Given the description of an element on the screen output the (x, y) to click on. 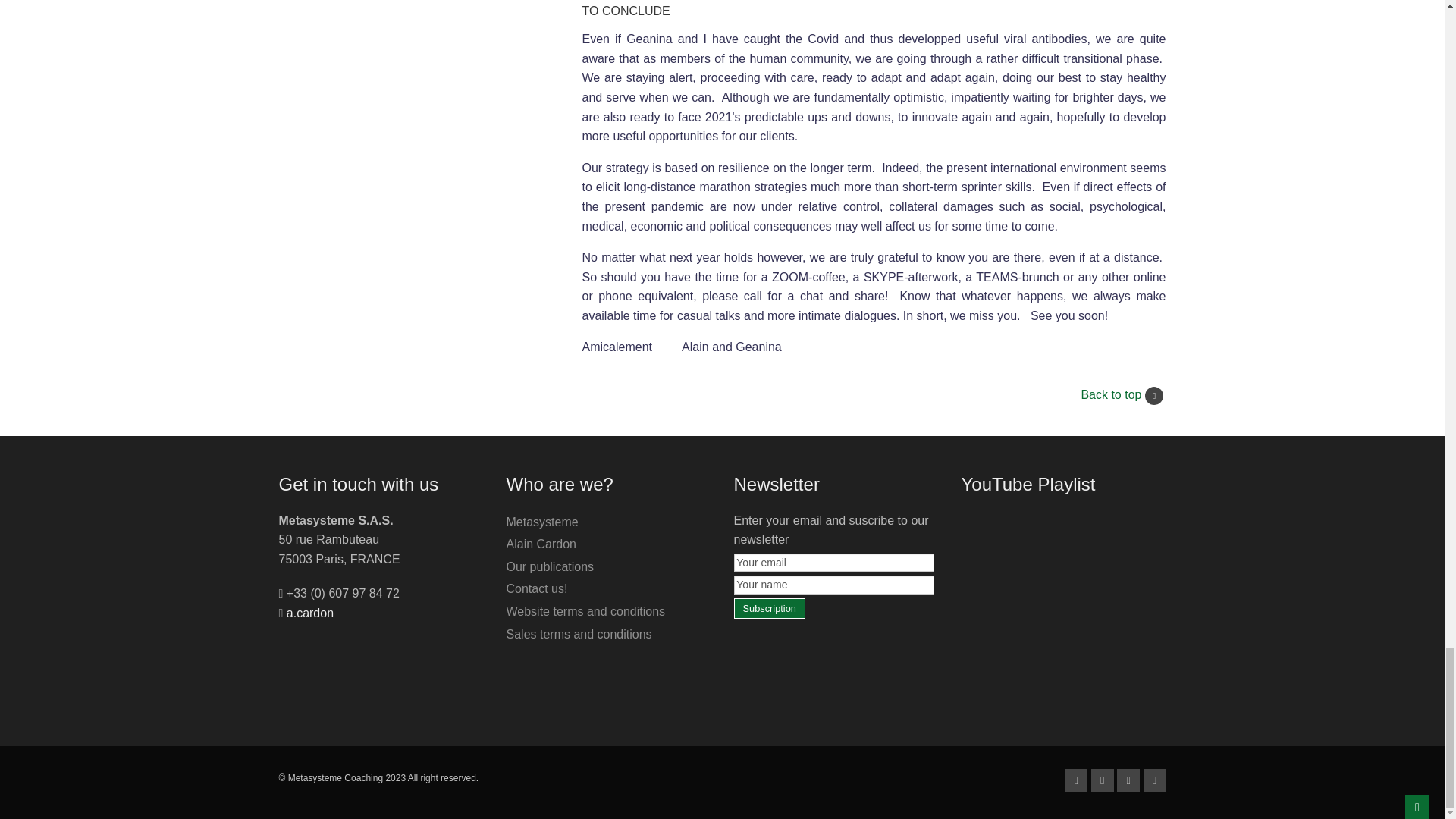
Subscription (769, 608)
Your email (833, 562)
Your name (833, 584)
